Given the description of an element on the screen output the (x, y) to click on. 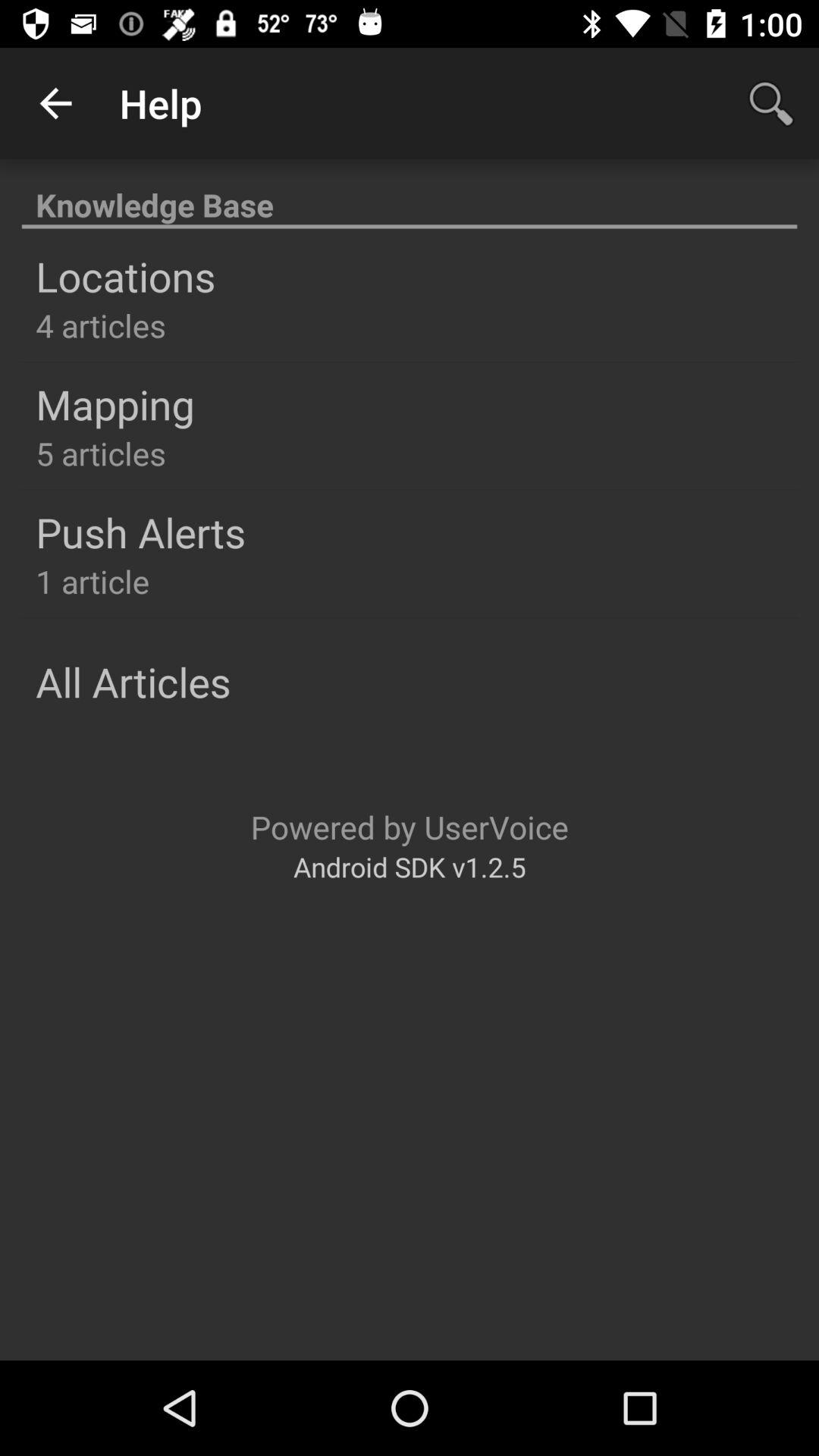
jump until the push alerts icon (140, 531)
